Given the description of an element on the screen output the (x, y) to click on. 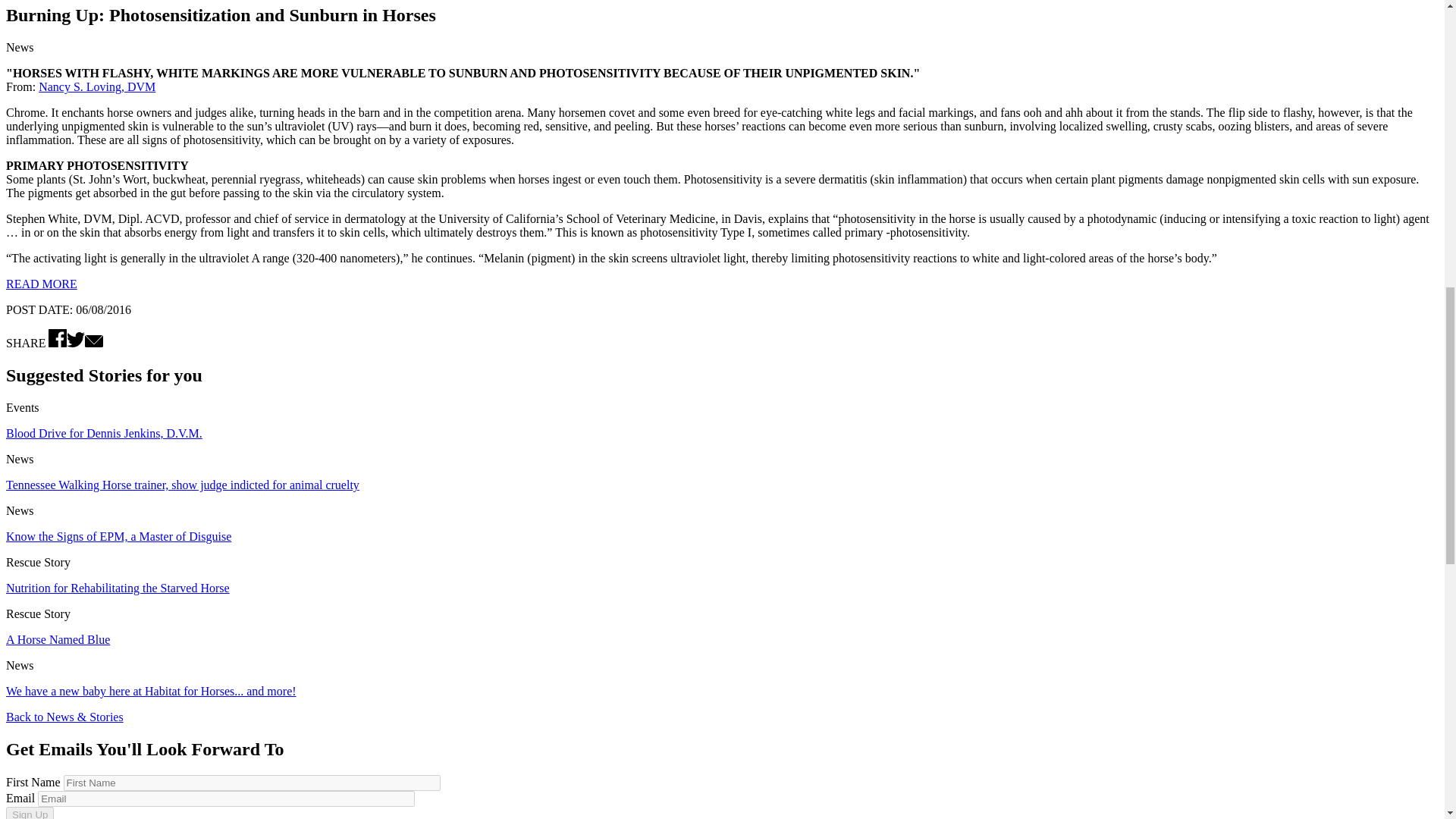
Nancy S. Loving, DVM (97, 86)
Sign Up (29, 812)
